Given the description of an element on the screen output the (x, y) to click on. 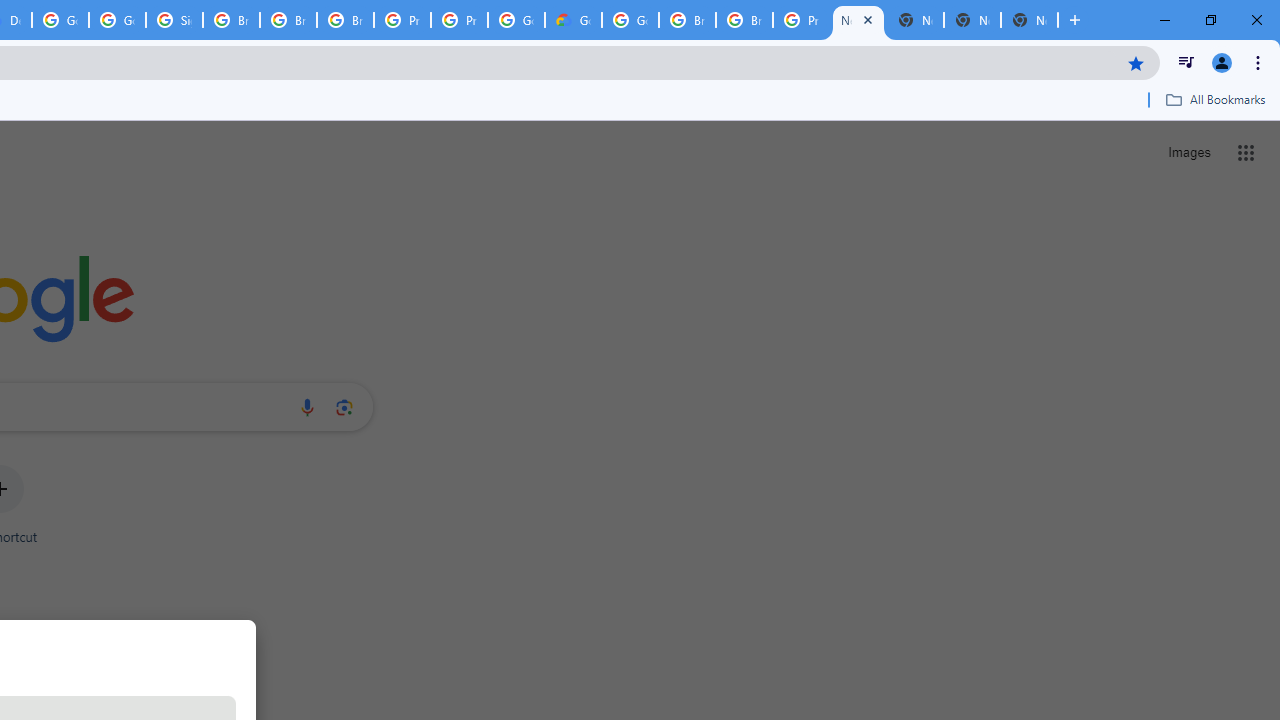
New Tab (1029, 20)
Google Cloud Platform (630, 20)
Browse Chrome as a guest - Computer - Google Chrome Help (231, 20)
Browse Chrome as a guest - Computer - Google Chrome Help (288, 20)
Google Cloud Platform (60, 20)
Google Cloud Platform (516, 20)
Sign in - Google Accounts (174, 20)
